Given the description of an element on the screen output the (x, y) to click on. 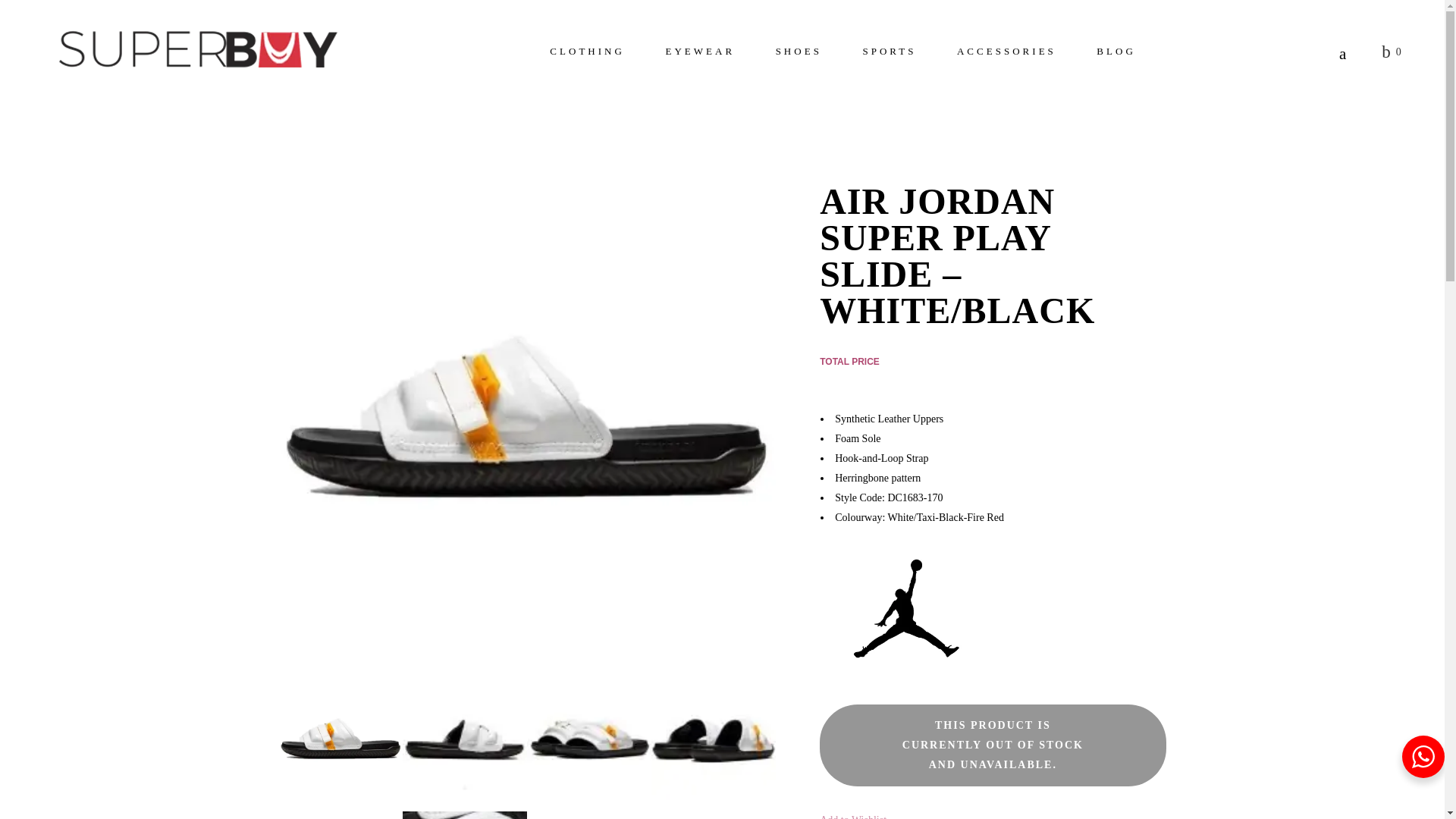
EYEWEAR (700, 54)
Air Jordan Super Play Slide - Black-2 (465, 742)
Air Jordan Super Play Slide - Black-3 (588, 742)
Air Jordan Super Play Slide - Black-7 (465, 815)
Air Jordan Super Play Slide - Black-4 (713, 742)
CLOTHING (587, 54)
Air Jordan Super Play Slide - Black (341, 742)
Air Jordan Super Play Slide - Black-6 (341, 815)
